Given the description of an element on the screen output the (x, y) to click on. 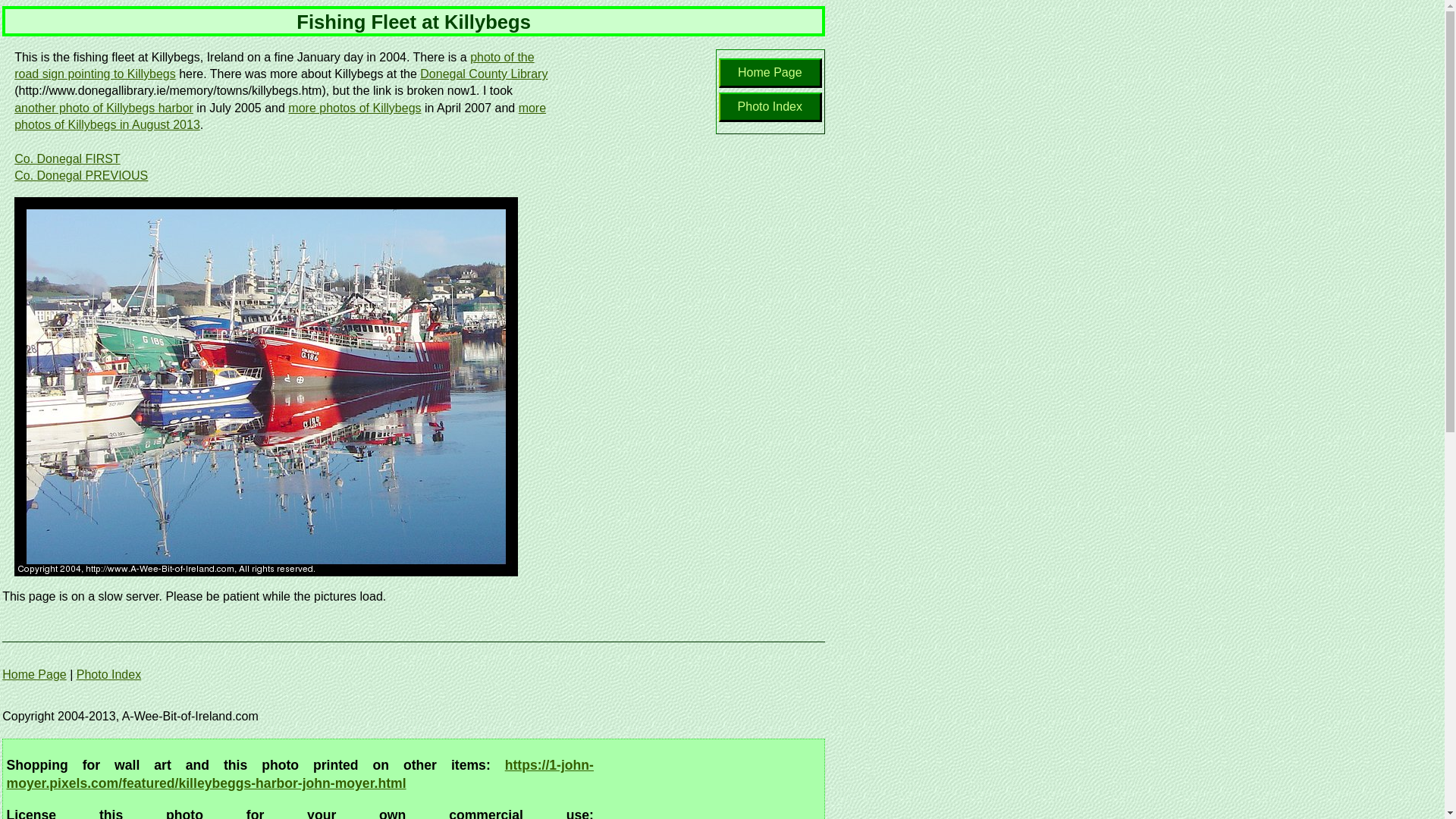
more photos of Killybegs in August 2013 (280, 116)
Co. Donegal PREVIOUS (81, 175)
more photos of Killybegs (354, 107)
Co. Donegal FIRST (67, 158)
Donegal County Library (483, 73)
photo of the road sign pointing to Killybegs (274, 65)
Home Page (770, 72)
Photo Index (770, 107)
Photo Index (109, 674)
